Given the description of an element on the screen output the (x, y) to click on. 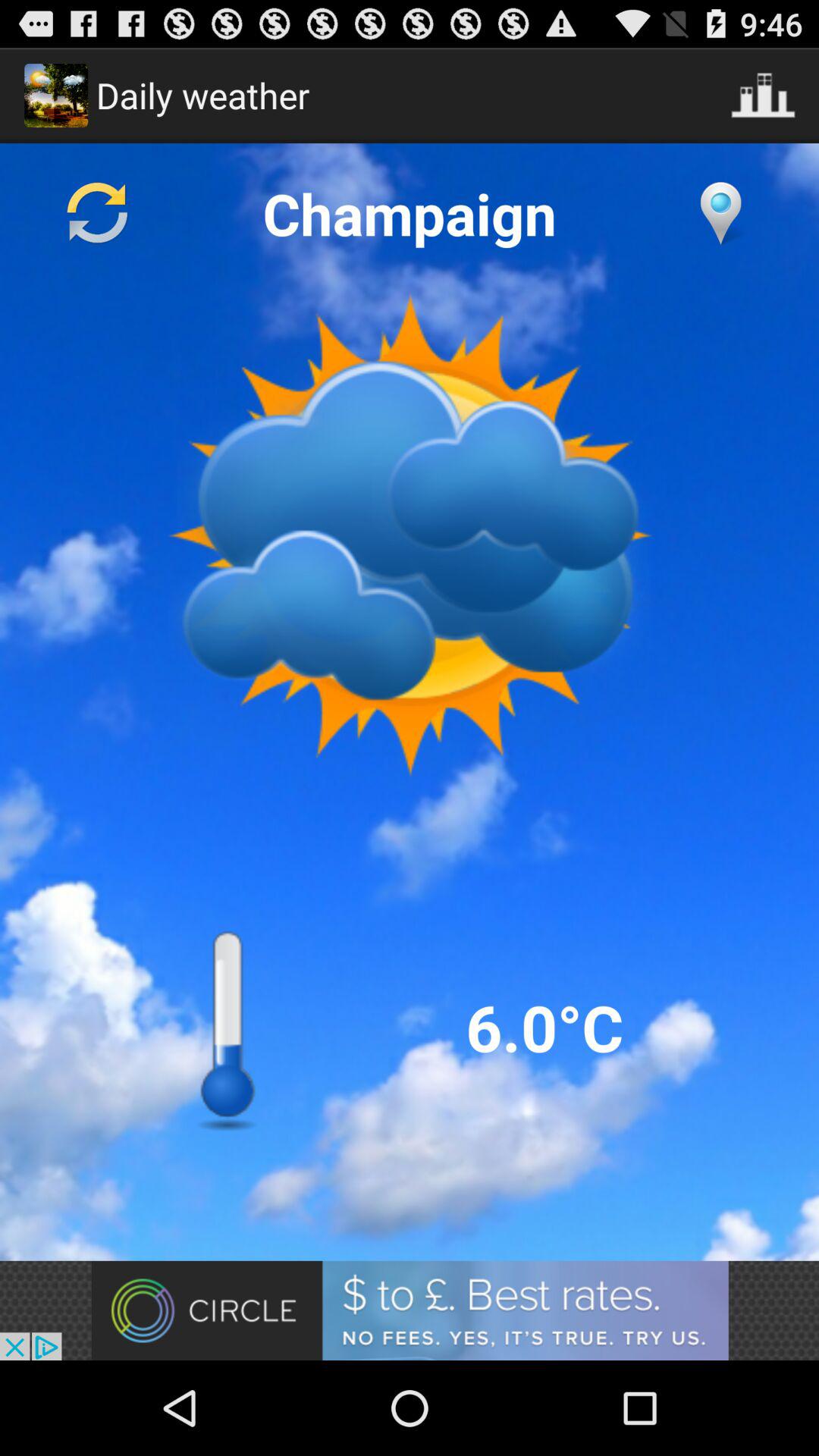
compass point (720, 213)
